Given the description of an element on the screen output the (x, y) to click on. 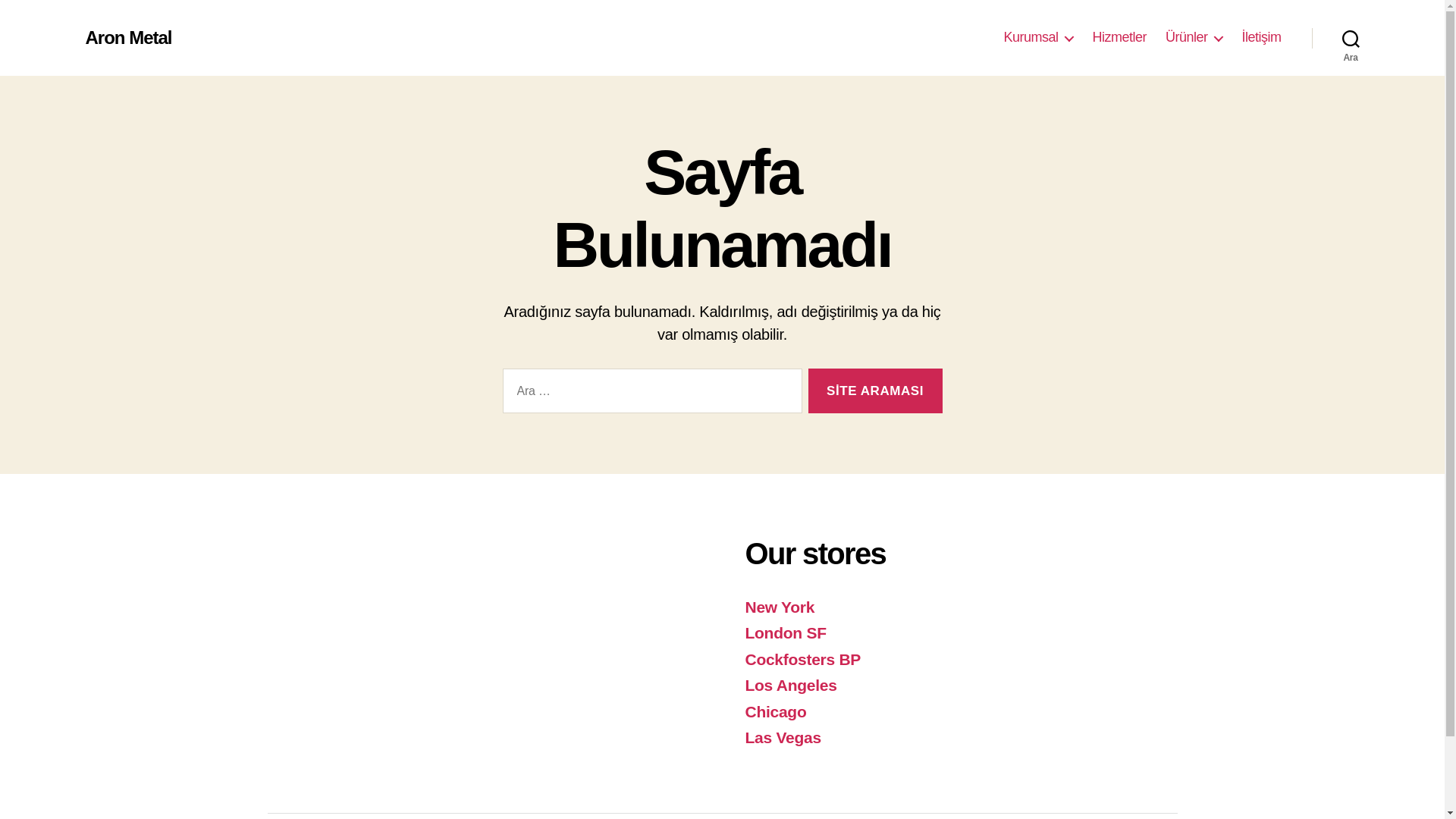
Kurumsal (1038, 37)
Hizmetler (1119, 37)
Ara (1350, 37)
Aron Metal (127, 37)
